Given the description of an element on the screen output the (x, y) to click on. 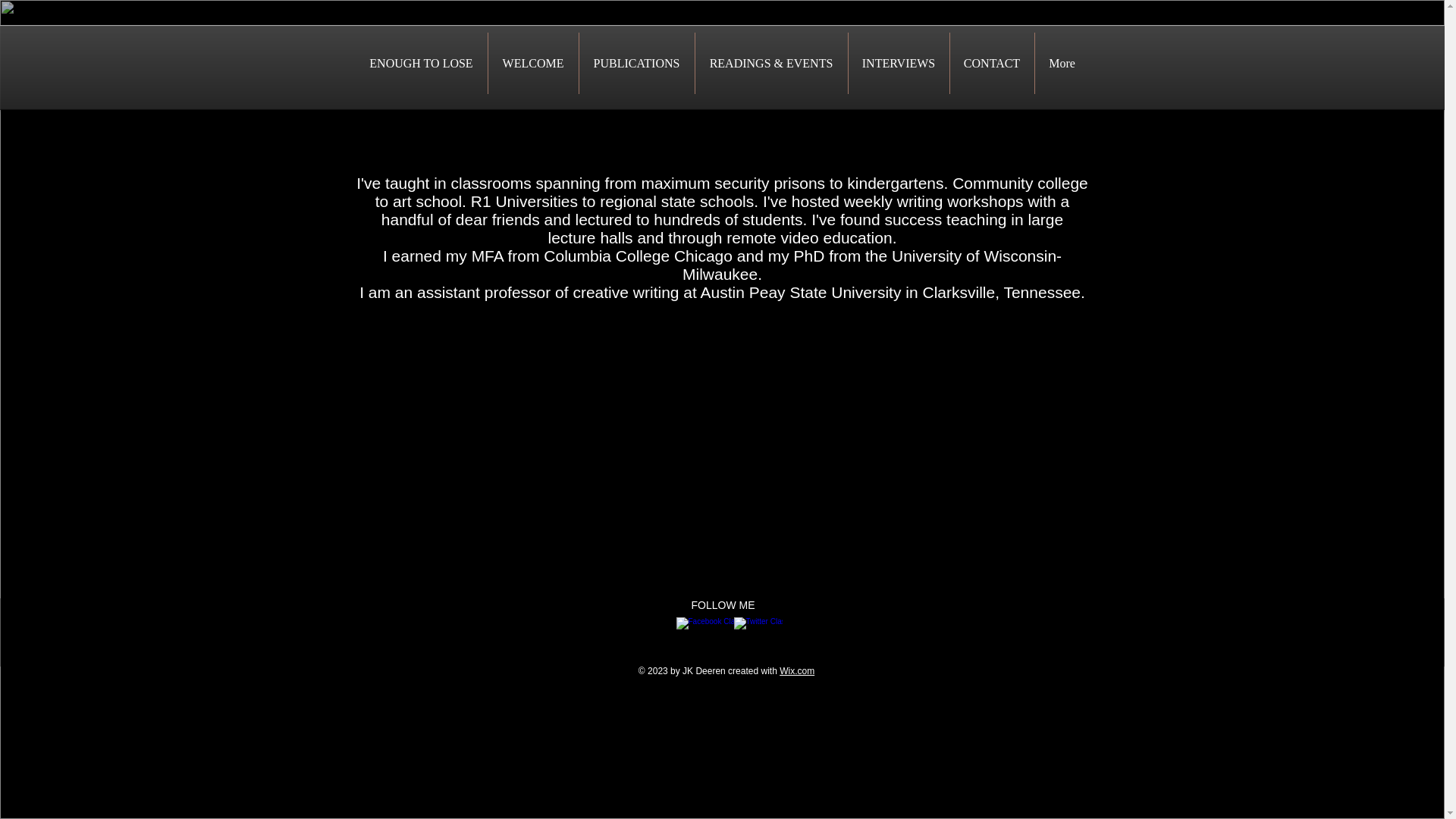
CONTACT (991, 63)
Wix.com (795, 670)
ENOUGH TO LOSE (420, 63)
PUBLICATIONS (636, 63)
INTERVIEWS (898, 63)
WELCOME (532, 63)
